Given the description of an element on the screen output the (x, y) to click on. 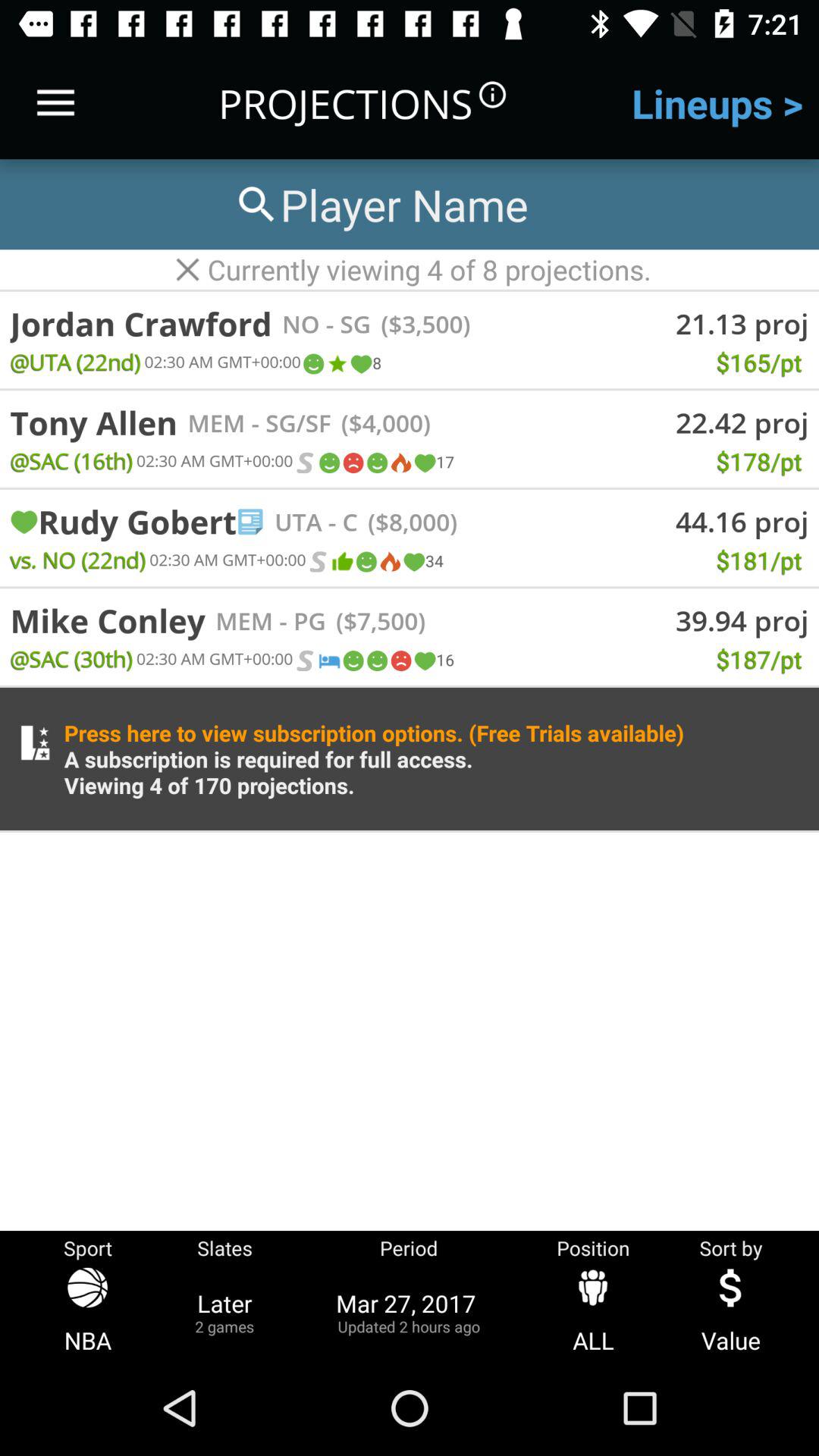
press value (731, 1311)
